Given the description of an element on the screen output the (x, y) to click on. 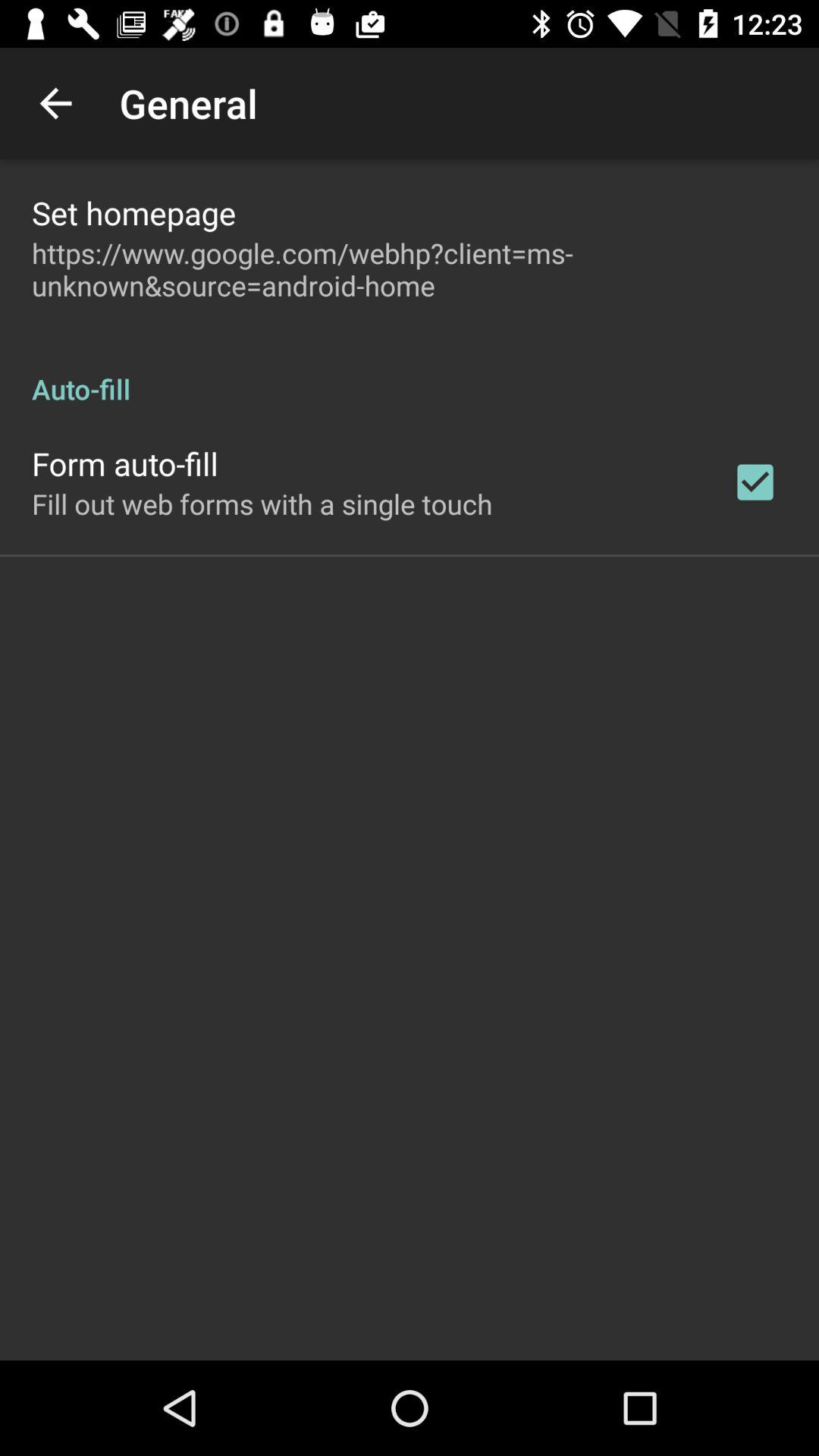
open the app below the auto-fill item (755, 482)
